Given the description of an element on the screen output the (x, y) to click on. 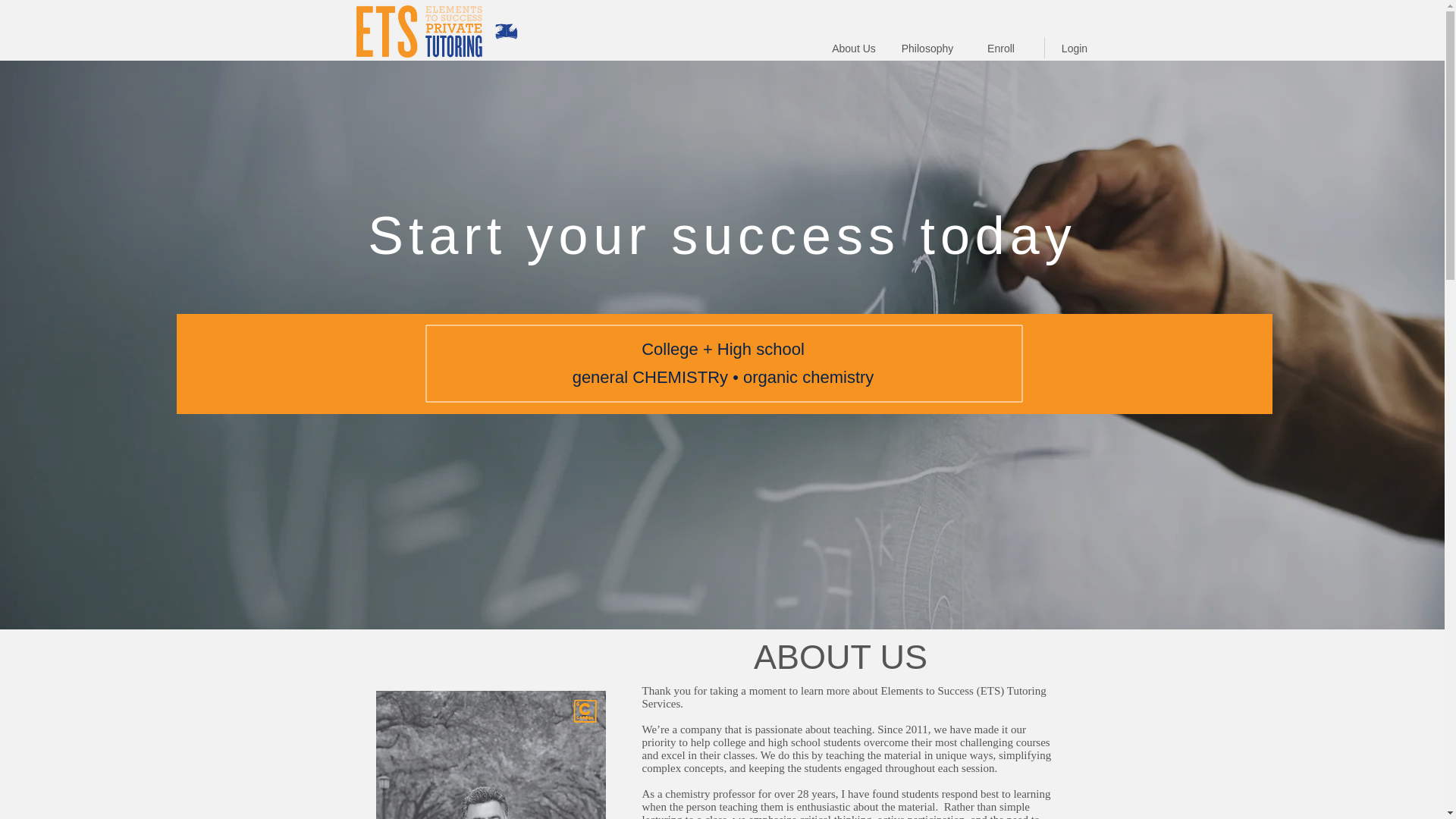
Enroll (1000, 48)
Login (1073, 48)
Start your success today (721, 236)
Edited Image 2015-2-24-13:55:19 (490, 755)
Philosophy (926, 48)
About Us (853, 48)
general CHEMISTRy (650, 376)
